Given the description of an element on the screen output the (x, y) to click on. 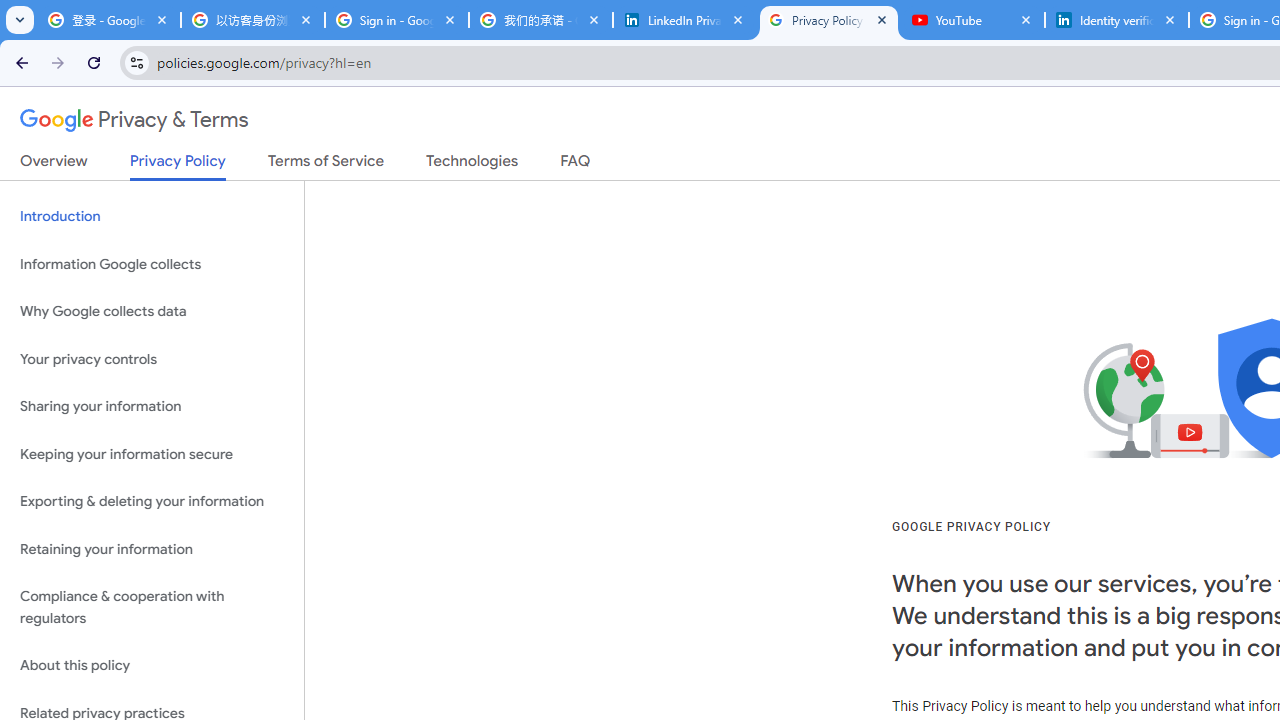
YouTube (972, 20)
